Given the description of an element on the screen output the (x, y) to click on. 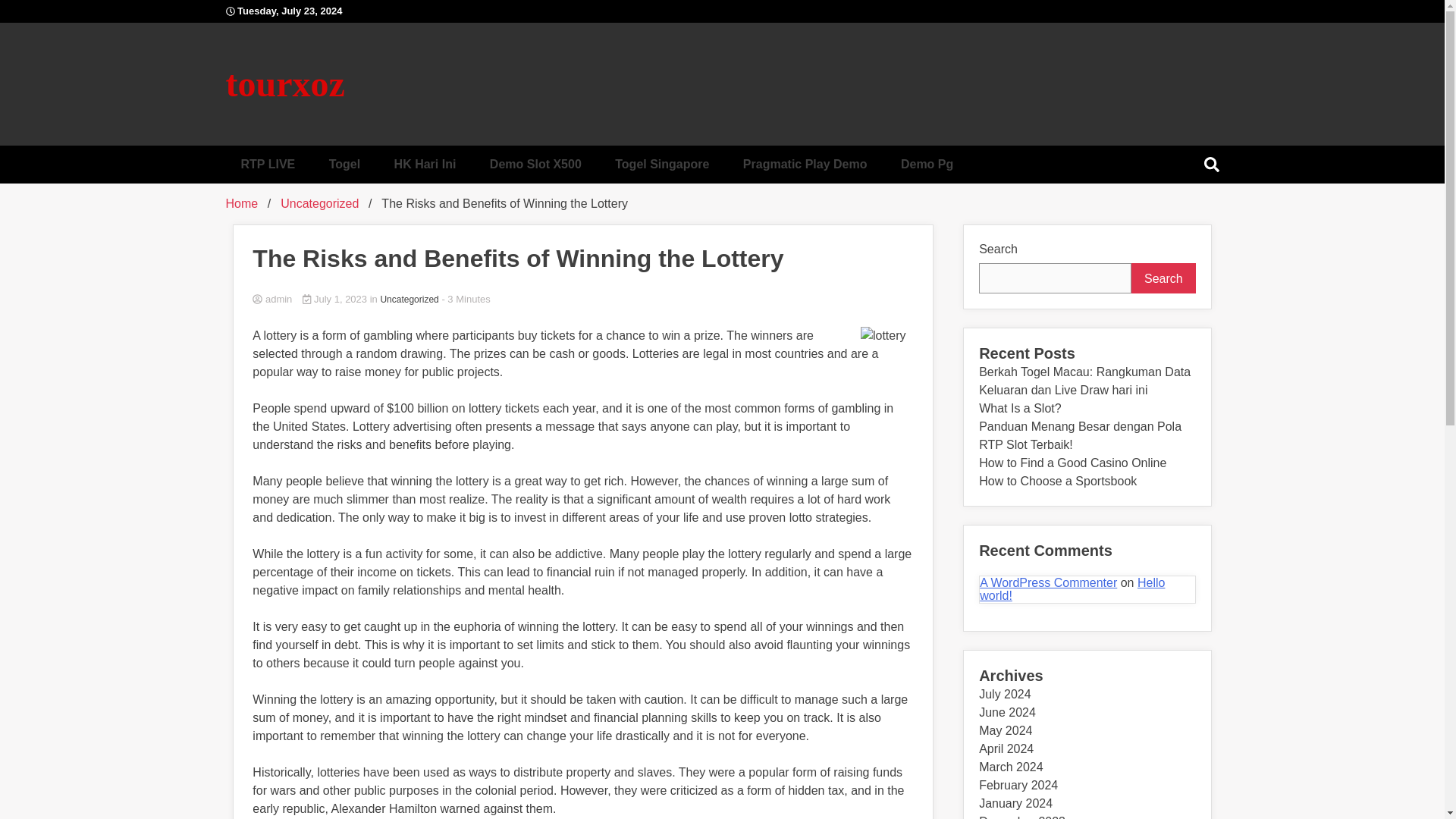
Search (1163, 277)
A WordPress Commenter (1047, 582)
July 2024 (1004, 694)
Demo Pg (926, 164)
What Is a Slot? (1019, 408)
Estimated Reading Time of Article (465, 298)
Home (242, 203)
Hello world! (1071, 589)
Togel (344, 164)
Uncategorized (409, 299)
How to Choose a Sportsbook (1057, 481)
tourxoz (285, 83)
Panduan Menang Besar dengan Pola RTP Slot Terbaik! (1079, 435)
RTP LIVE (268, 164)
